Given the description of an element on the screen output the (x, y) to click on. 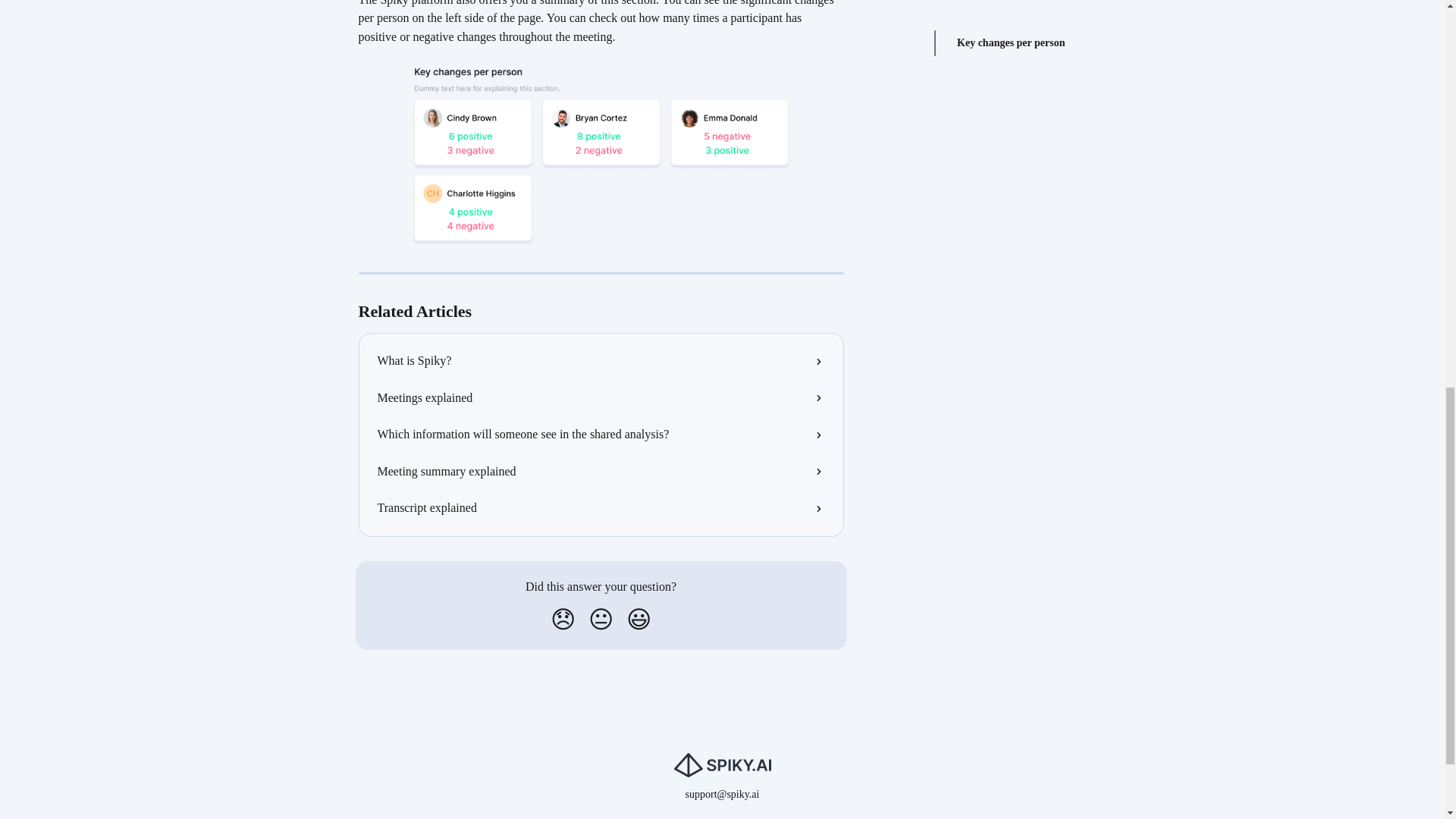
Meetings explained (601, 398)
Disappointed (562, 619)
Transcript explained (601, 507)
Smiley (638, 619)
What is Spiky? (601, 361)
Meeting summary explained (601, 471)
Which information will someone see in the shared analysis? (601, 434)
Neutral (600, 619)
